Given the description of an element on the screen output the (x, y) to click on. 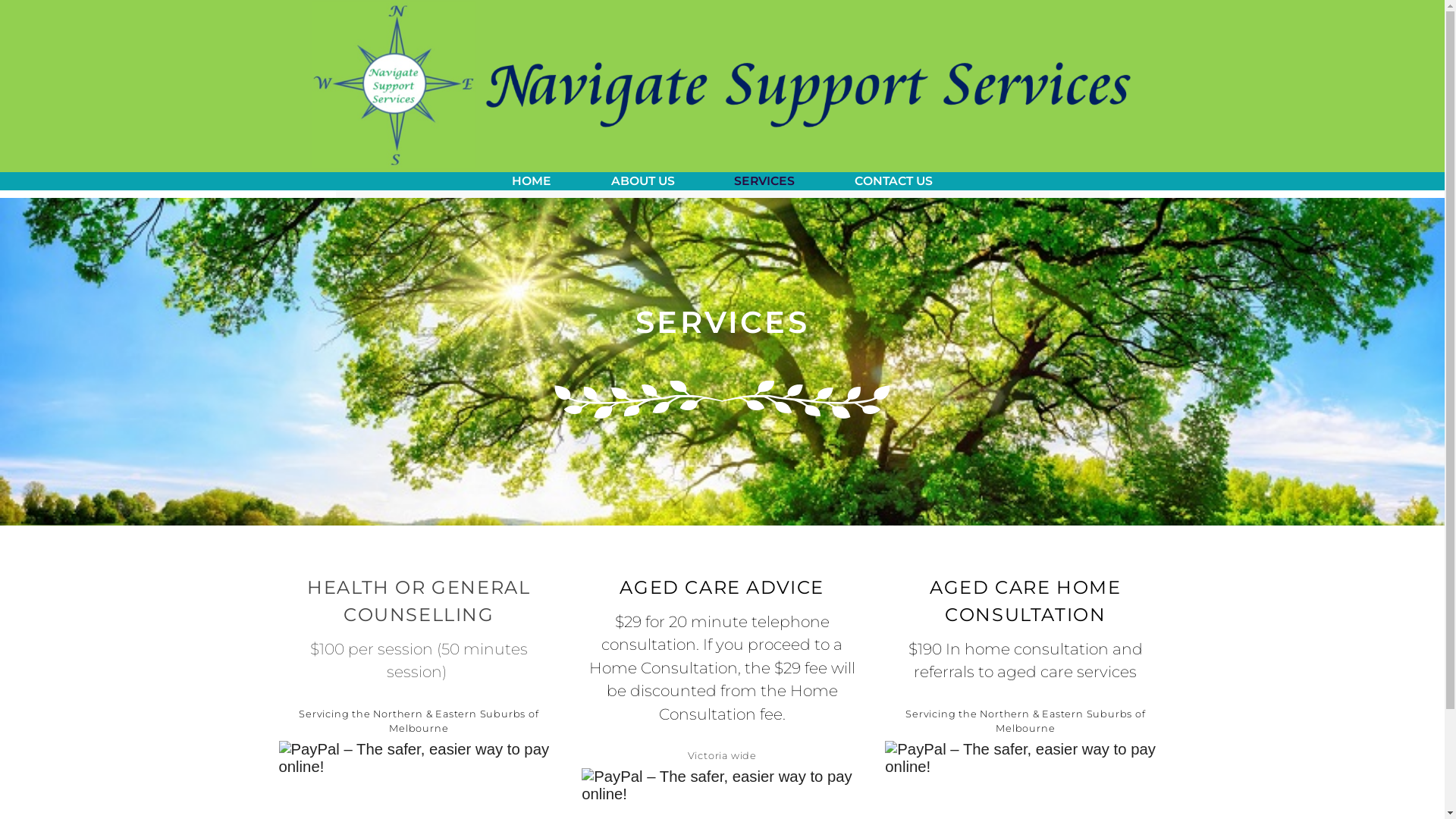
SERVICES Element type: text (764, 180)
ABOUT US Element type: text (642, 180)
CONTACT US Element type: text (893, 180)
HOME Element type: text (531, 180)
